Given the description of an element on the screen output the (x, y) to click on. 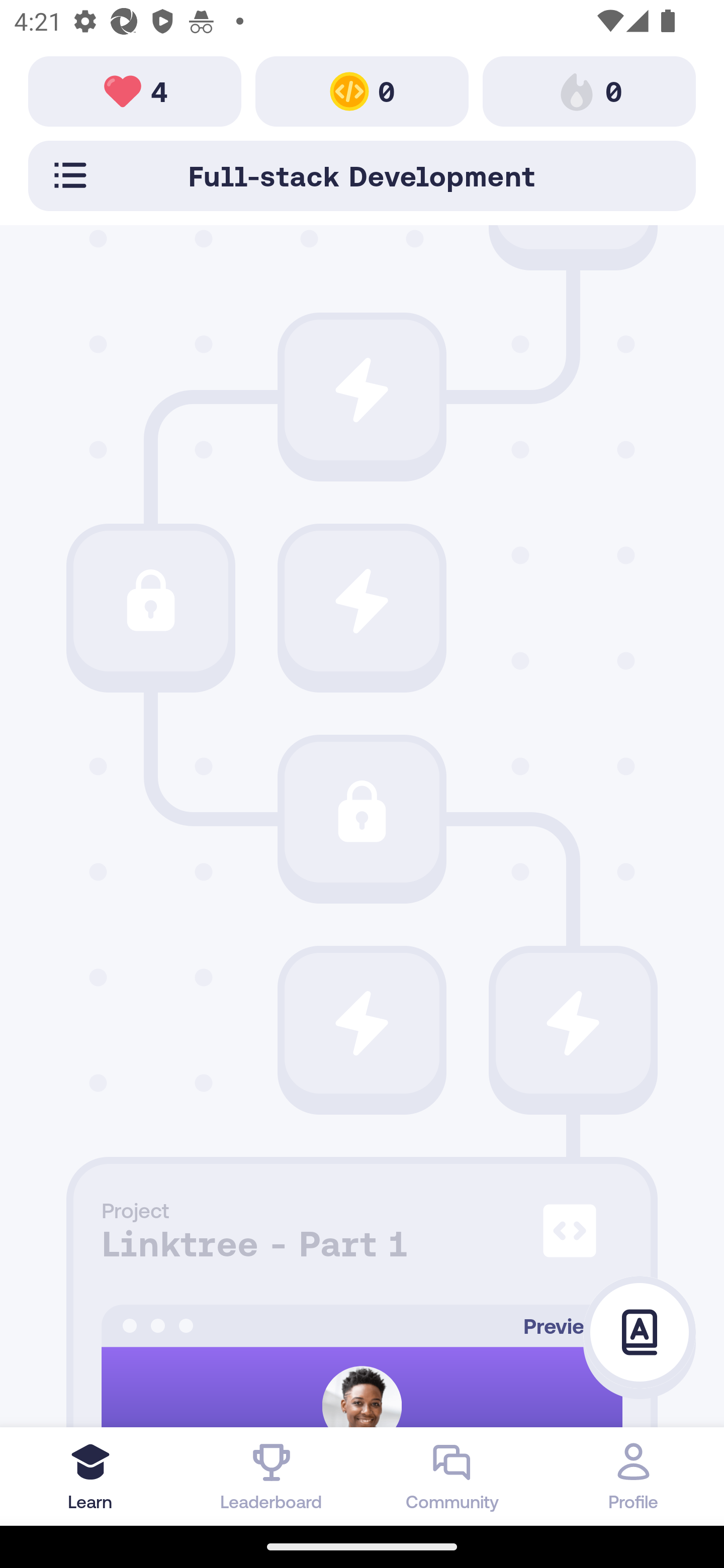
Path Toolbar Image 4 (134, 90)
Path Toolbar Image 0 (361, 90)
Path Toolbar Image 0 (588, 90)
Path Toolbar Selector Full-stack Development (361, 175)
Glossary Icon (639, 1332)
Leaderboard (271, 1475)
Community (452, 1475)
Profile (633, 1475)
